Given the description of an element on the screen output the (x, y) to click on. 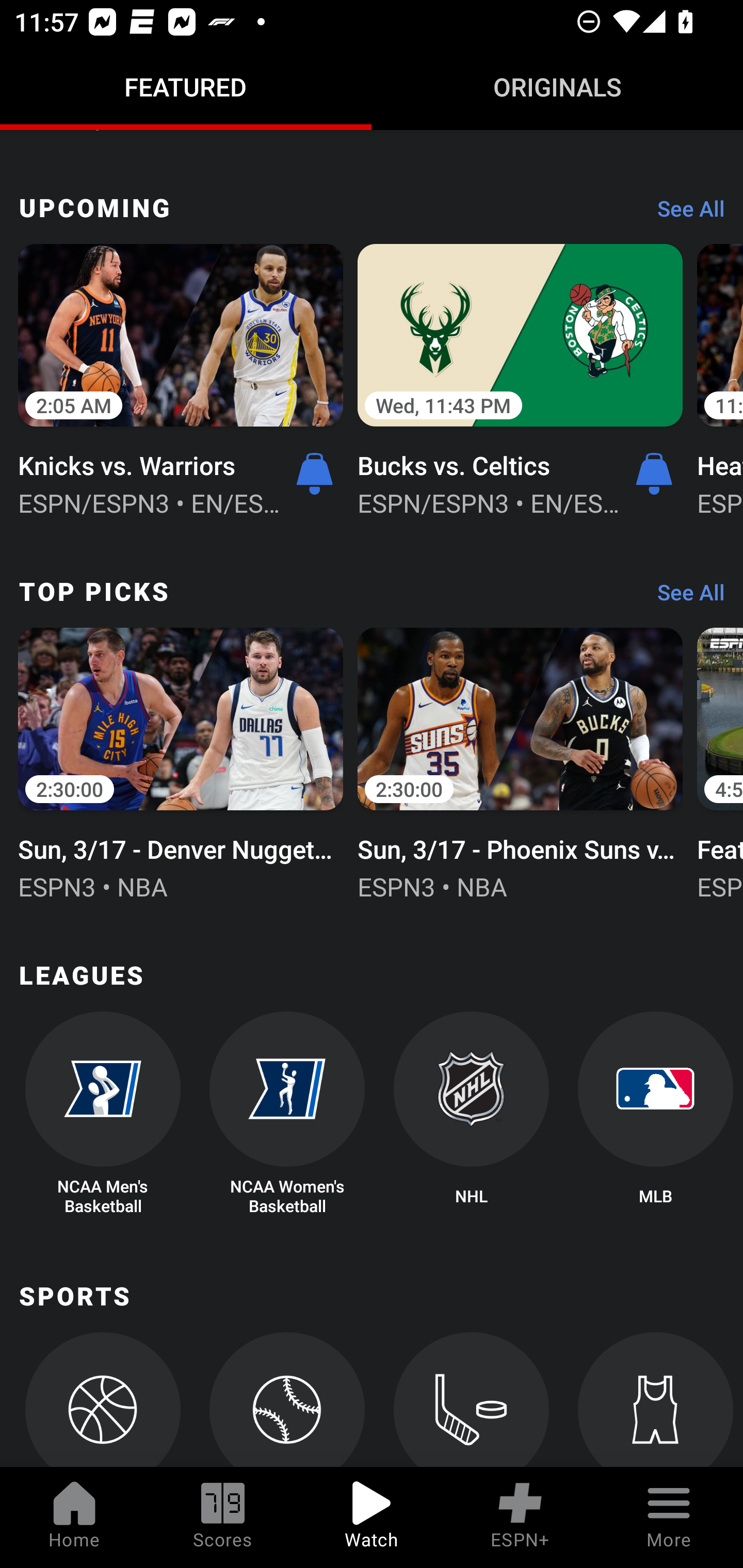
Originals ORIGINALS (557, 86)
See All (683, 212)
See All (683, 596)
NCAA Men's Basketball (102, 1113)
NCAA Women's Basketball (286, 1113)
NHL (471, 1113)
MLB (655, 1113)
Home (74, 1517)
Scores (222, 1517)
ESPN+ (519, 1517)
More (668, 1517)
